Given the description of an element on the screen output the (x, y) to click on. 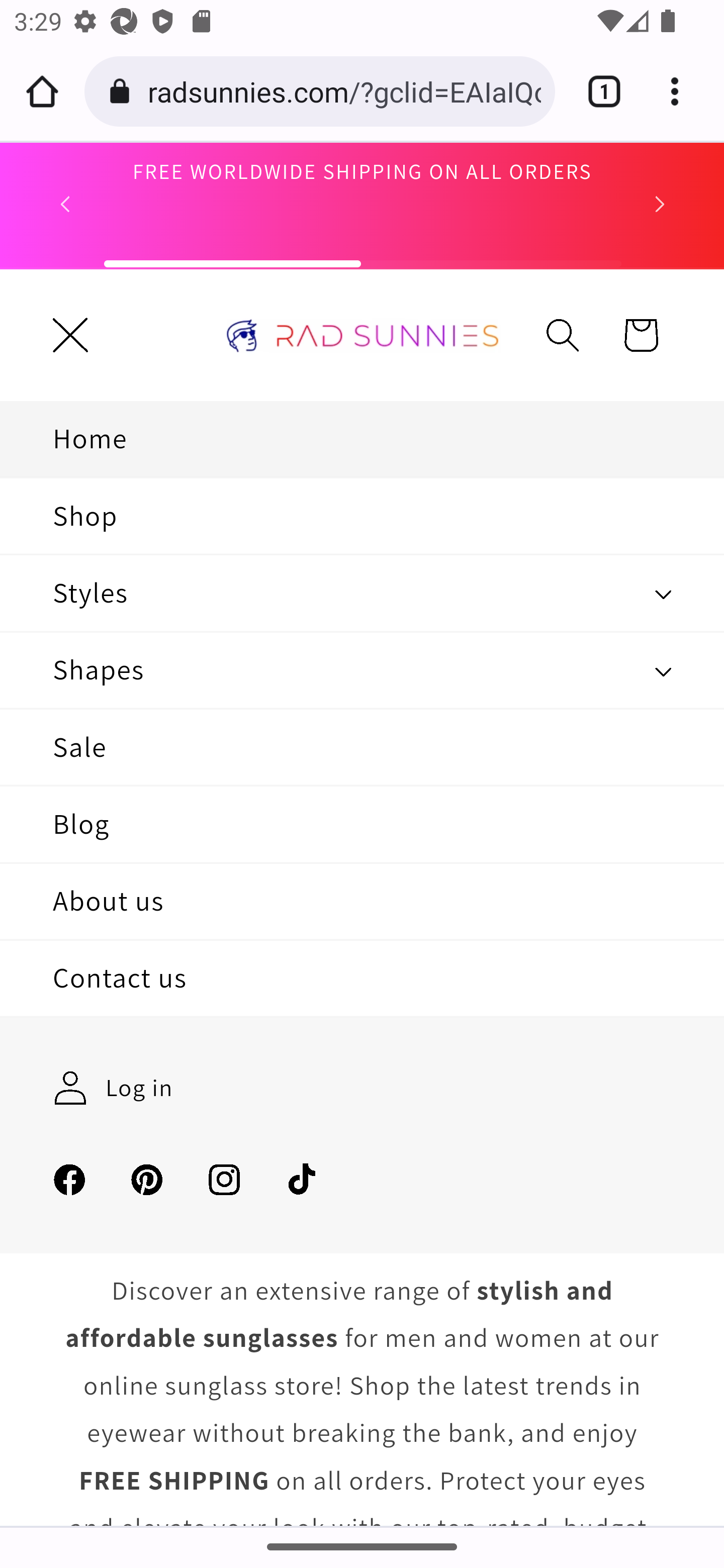
Home (42, 91)
Connection is secure (122, 91)
Switch or close tabs (597, 91)
More options (681, 91)
Previous announcement (64, 204)
Next announcement (659, 204)
Rad Sunnies Rad Sunnies Rad Sunnies (362, 335)
Menu (70, 334)
Search (563, 334)
Cart (640, 334)
Home (362, 439)
Shop (362, 515)
Styles  (362, 592)
Shapes  (362, 669)
Sale (362, 746)
Blog (362, 824)
About us (362, 901)
Contact us (362, 977)
 Log in Log in (112, 1088)
 Facebook  Facebook (69, 1178)
 Pinterest  Pinterest (146, 1178)
 Instagram  Instagram (224, 1178)
 TikTok  TikTok (301, 1178)
